Given the description of an element on the screen output the (x, y) to click on. 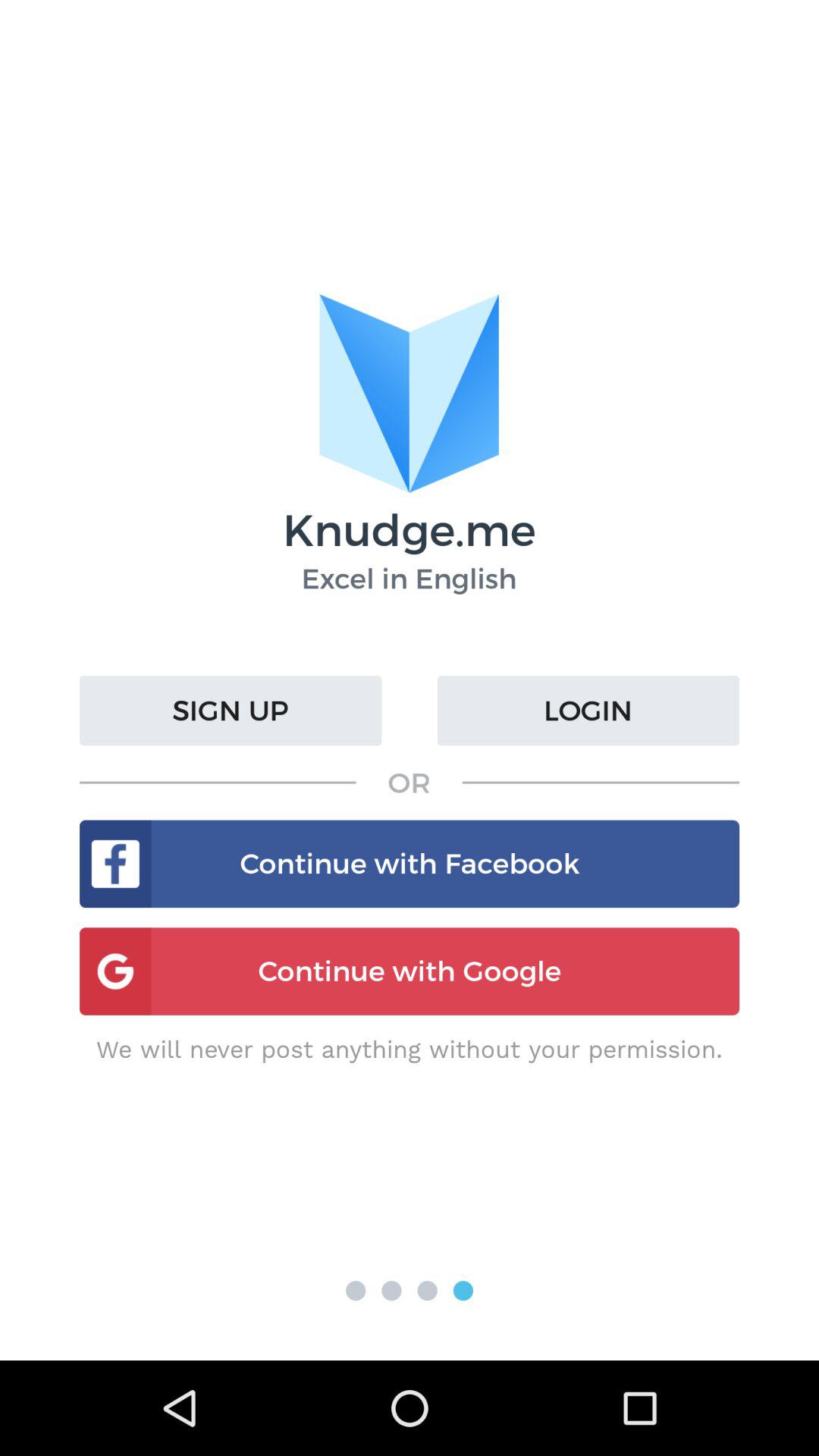
launch icon to the right of the sign up item (588, 710)
